Given the description of an element on the screen output the (x, y) to click on. 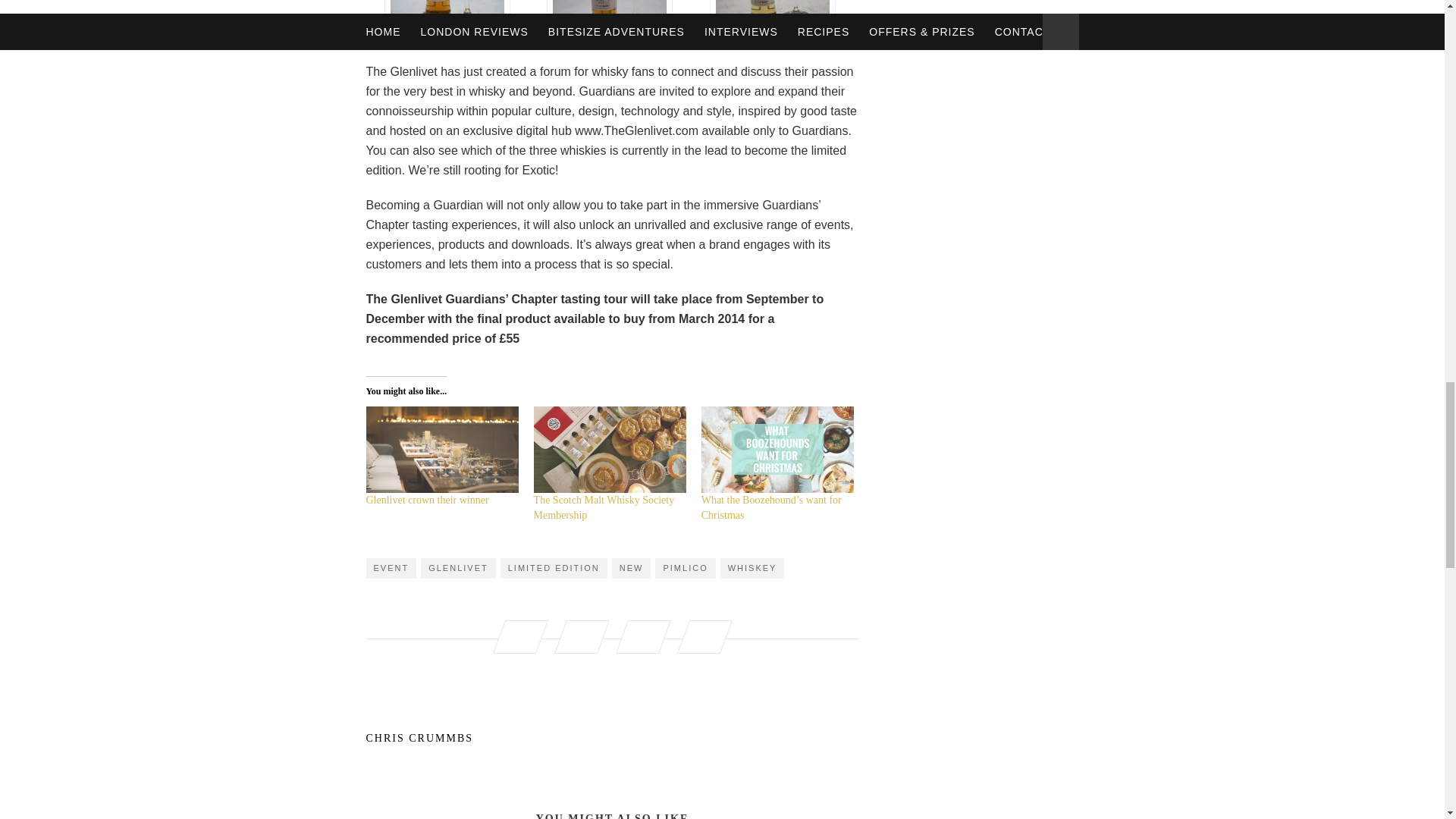
The Scotch Malt Whisky Society Membership (604, 507)
Glenlivet crown their winner (441, 449)
Glenlivet crown their winner (426, 500)
Posts by Chris Crummbs (612, 738)
The Scotch Malt Whisky Society Membership (609, 449)
